Given the description of an element on the screen output the (x, y) to click on. 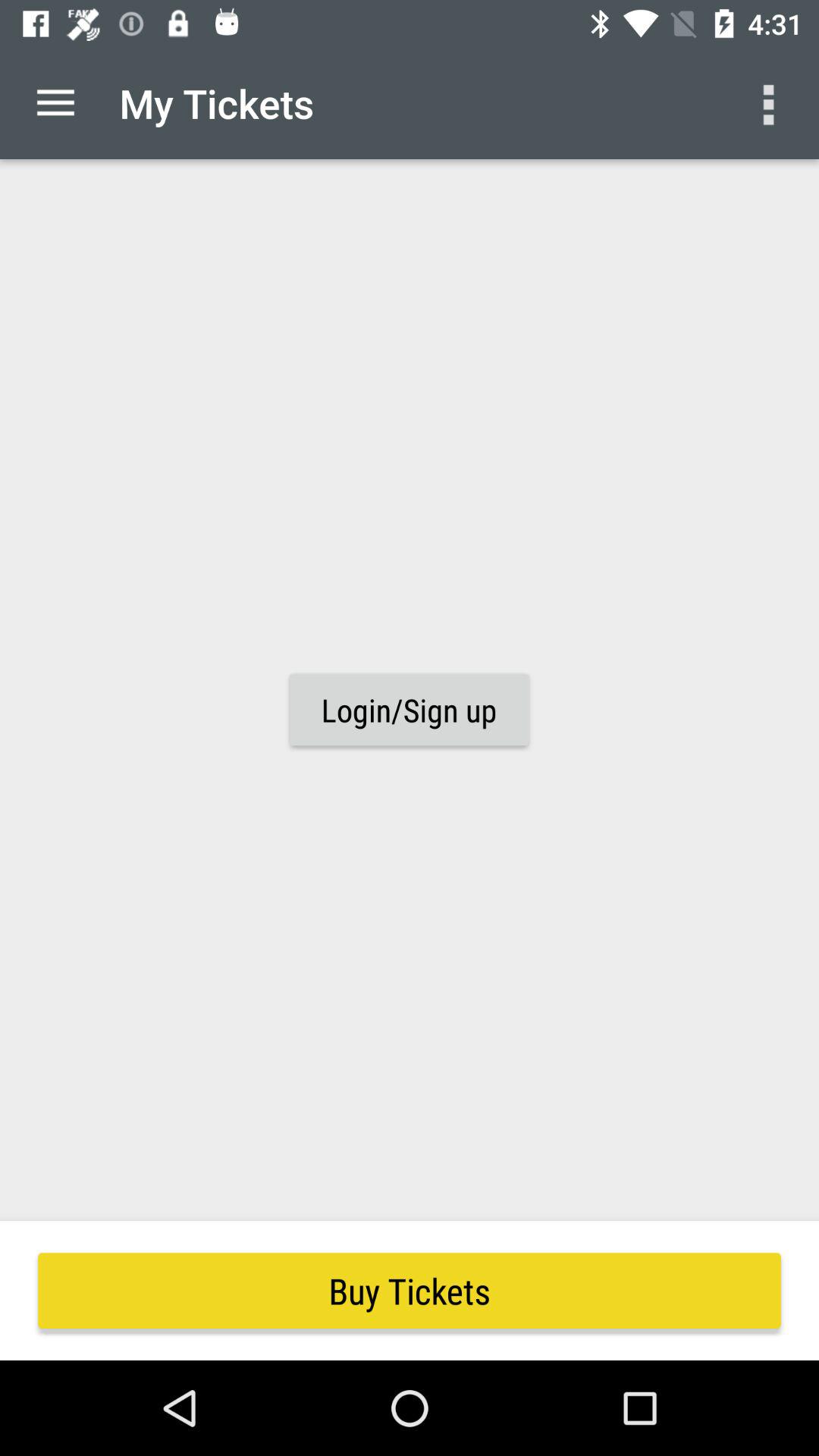
click the icon above buy tickets item (771, 103)
